Given the description of an element on the screen output the (x, y) to click on. 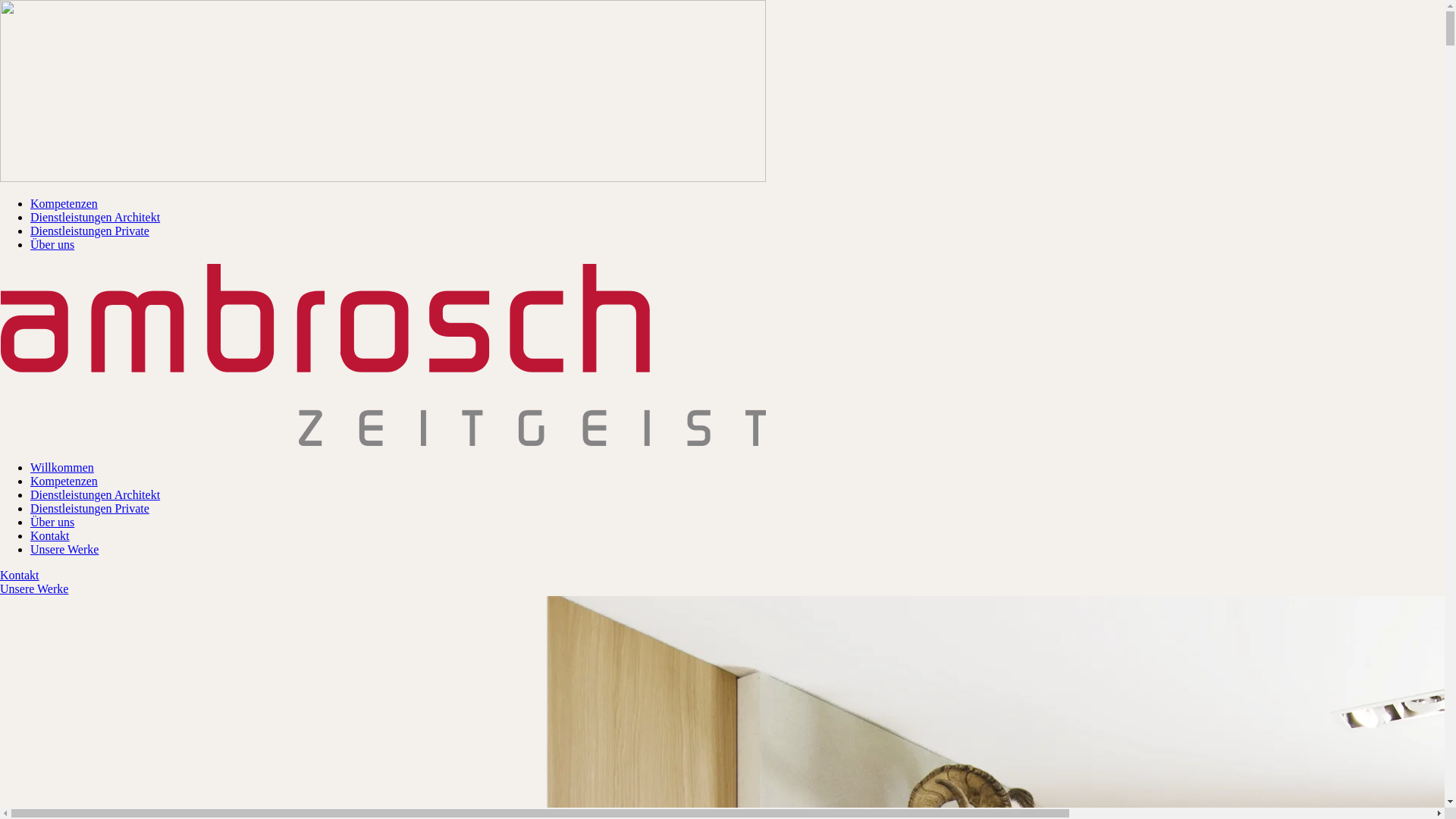
Dienstleistungen Architekt Element type: text (95, 494)
Unsere Werke Element type: text (64, 548)
Dienstleistungen Private Element type: text (89, 508)
Dienstleistungen Architekt Element type: text (95, 216)
Willkommen Element type: text (62, 467)
Dienstleistungen Private Element type: text (89, 230)
Kompetenzen Element type: text (63, 203)
Unsere Werke Element type: text (34, 588)
Kontakt Element type: text (19, 574)
Kontakt Element type: text (49, 535)
Kompetenzen Element type: text (63, 480)
